Given the description of an element on the screen output the (x, y) to click on. 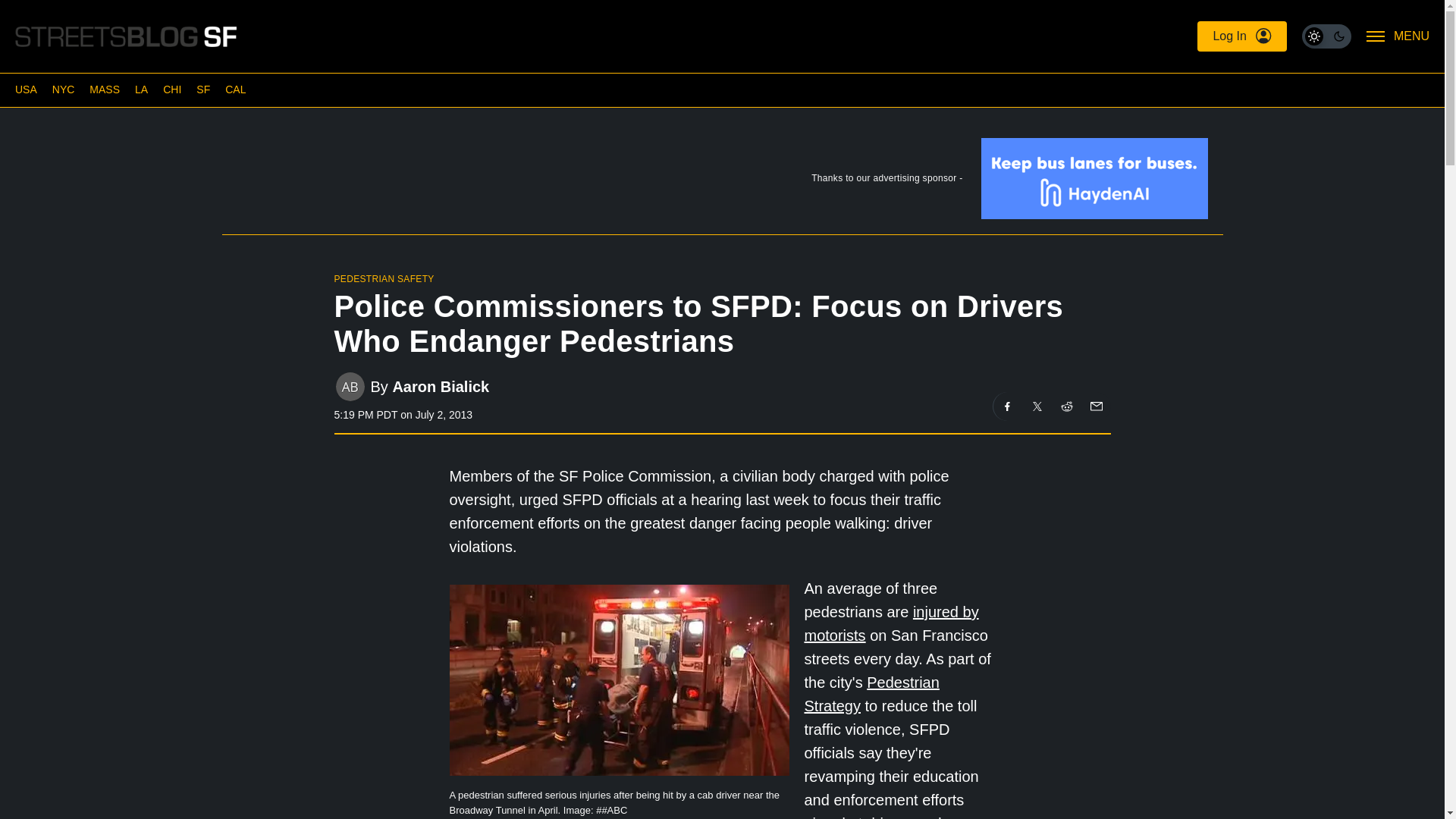
Share on Email (1095, 406)
Thanks to our advertising sponsor - (721, 181)
Pedestrian Strategy (871, 694)
NYC (63, 89)
Share on Reddit (1066, 406)
CAL (235, 89)
USA (25, 89)
MASS (103, 89)
MENU (1398, 36)
Share on Facebook (1007, 406)
